Given the description of an element on the screen output the (x, y) to click on. 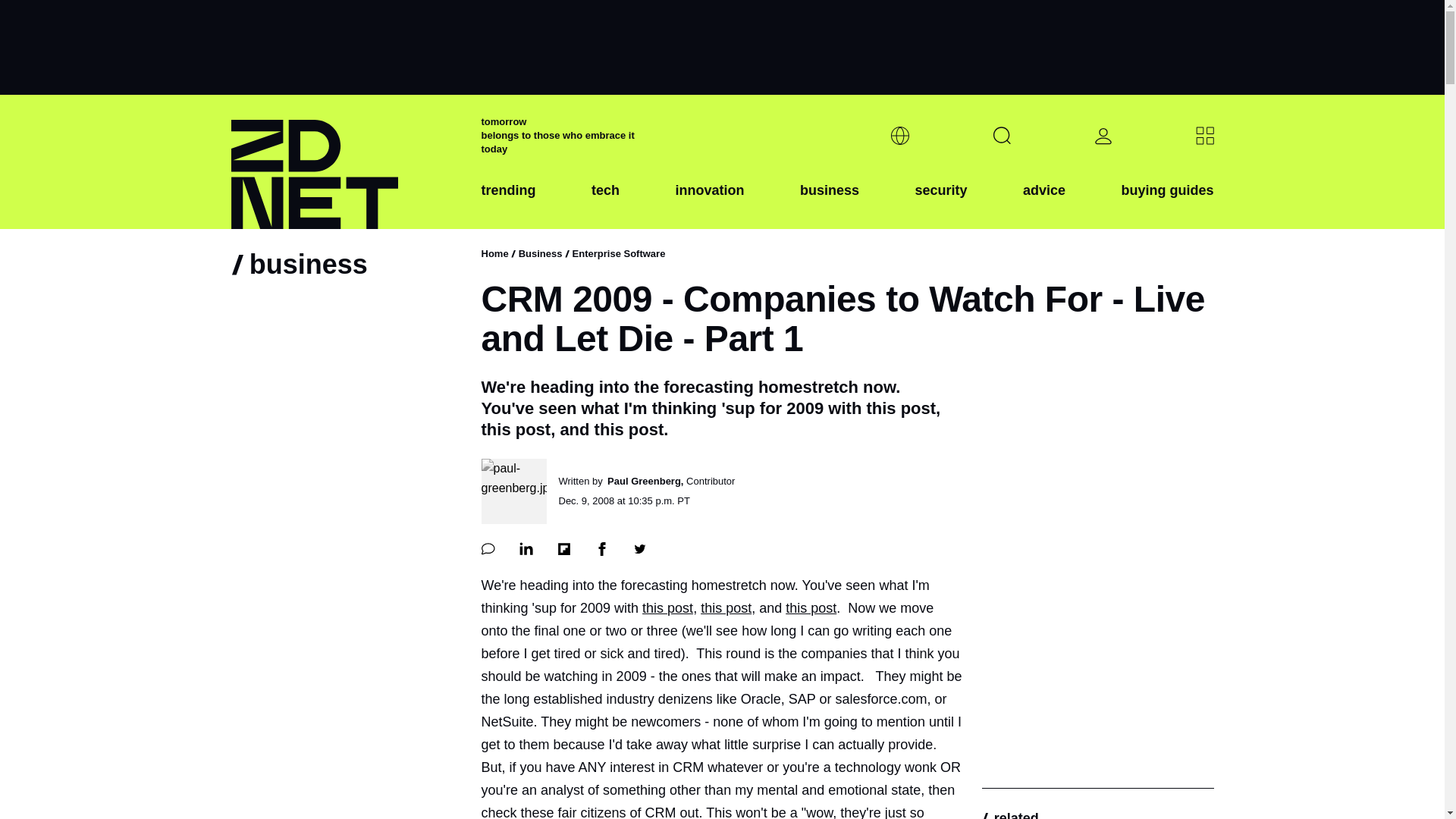
trending (507, 202)
ZDNET (346, 162)
tech (605, 202)
